Given the description of an element on the screen output the (x, y) to click on. 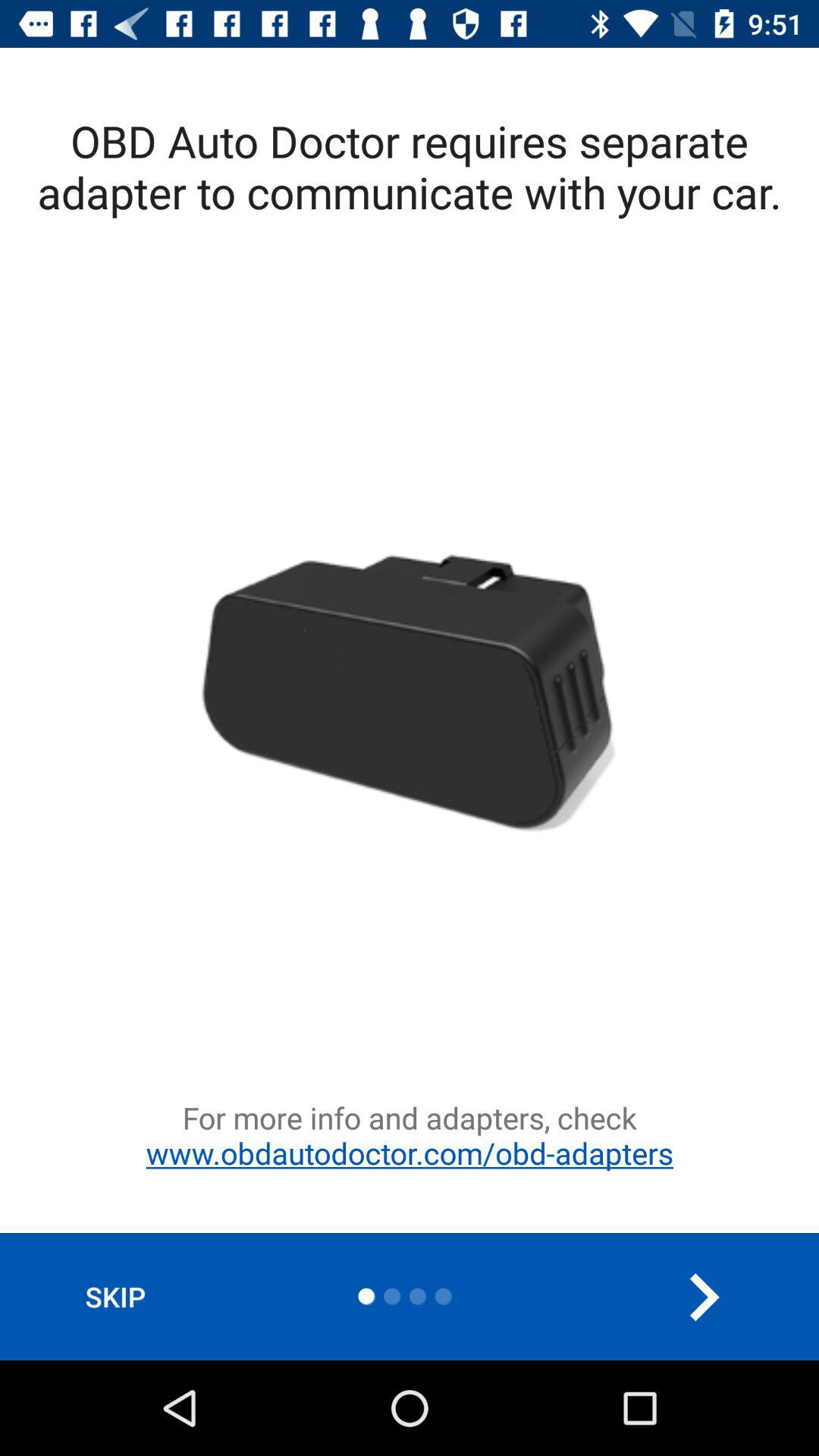
turn off icon at the bottom right corner (703, 1296)
